Given the description of an element on the screen output the (x, y) to click on. 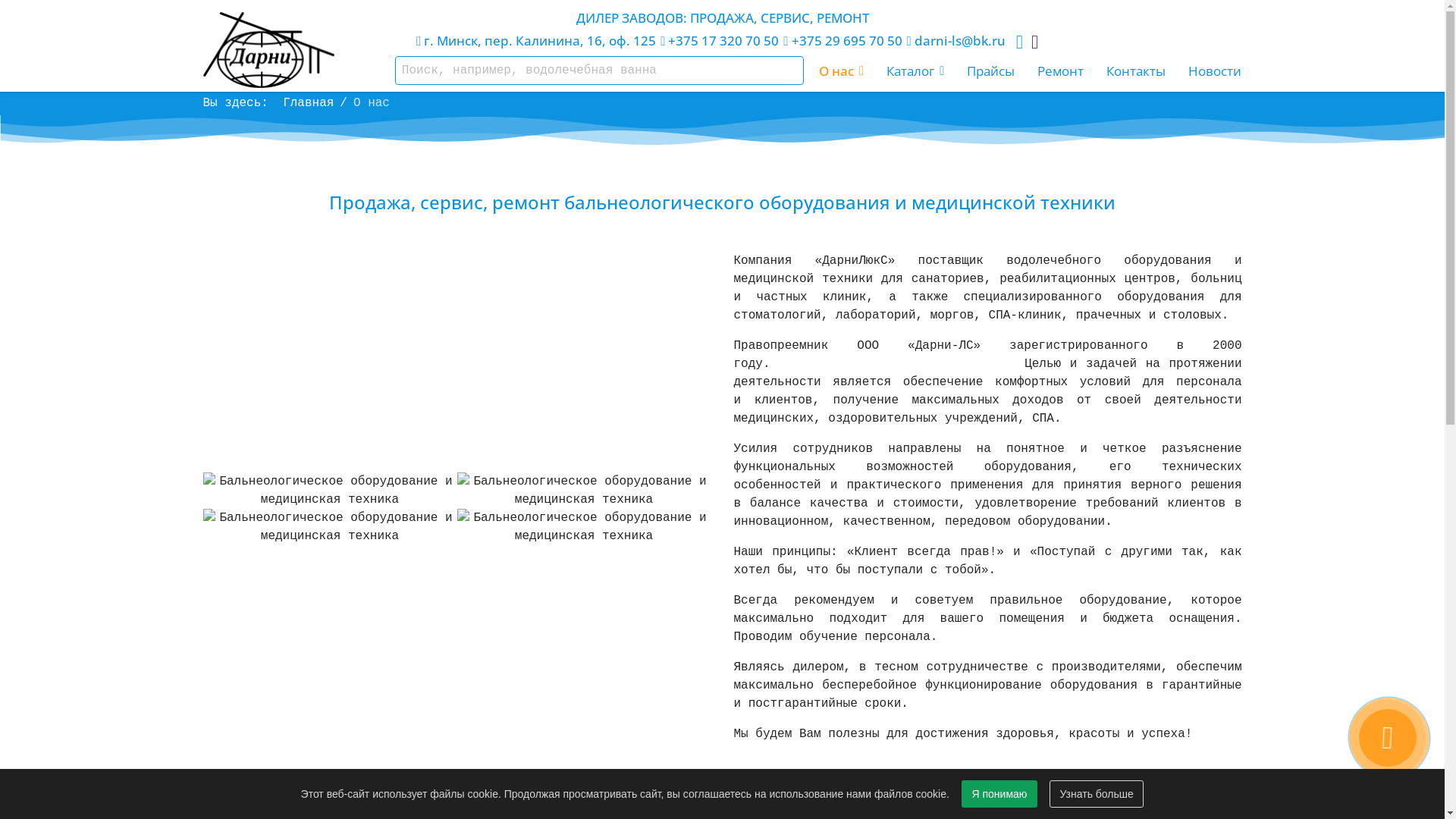
+375 17 320 70 50 Element type: text (723, 40)
+375 29 695 70 50 Element type: text (846, 40)
darni-ls@bk.ru Element type: text (959, 40)
